Given the description of an element on the screen output the (x, y) to click on. 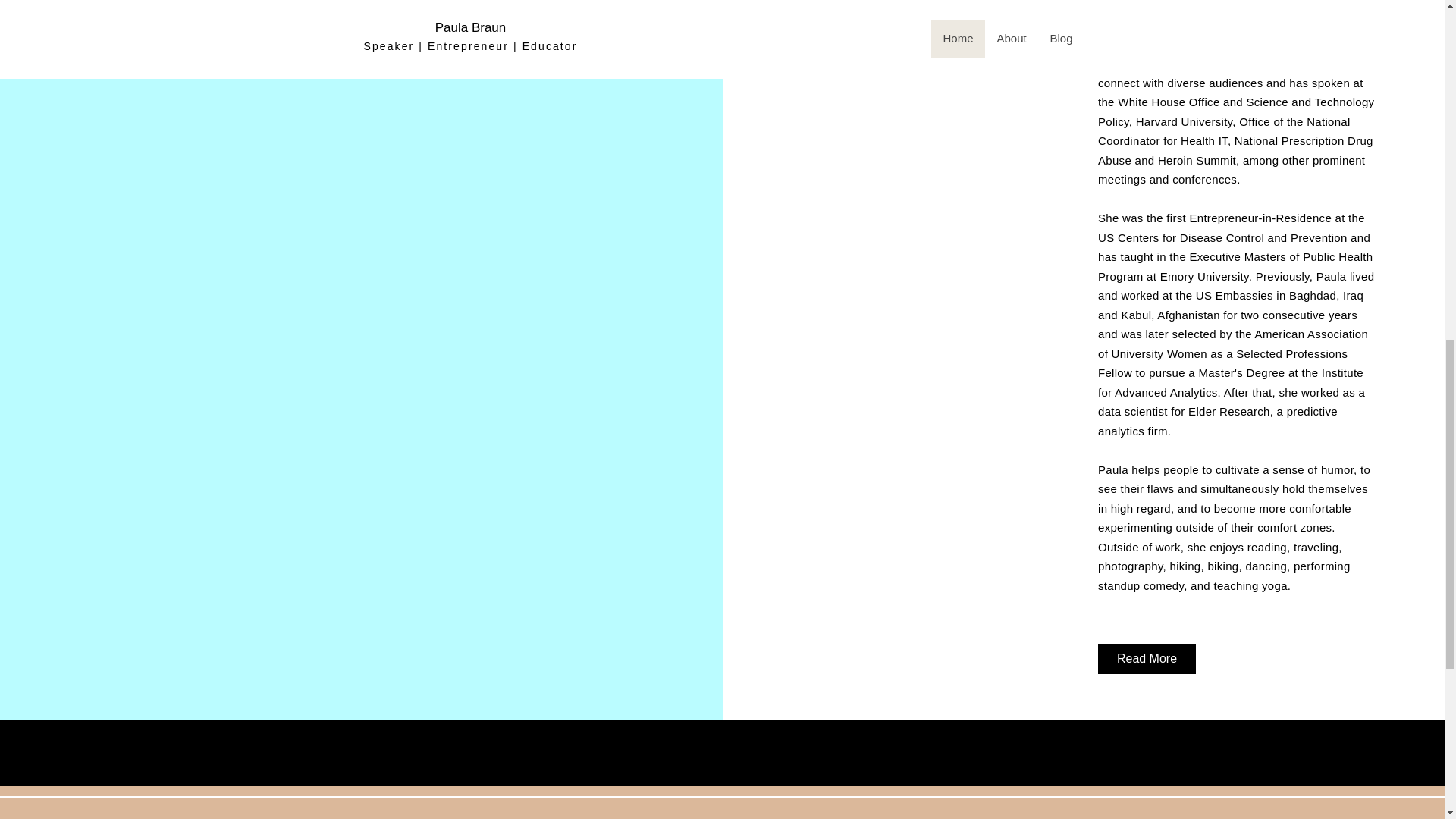
Read More (1146, 658)
